Given the description of an element on the screen output the (x, y) to click on. 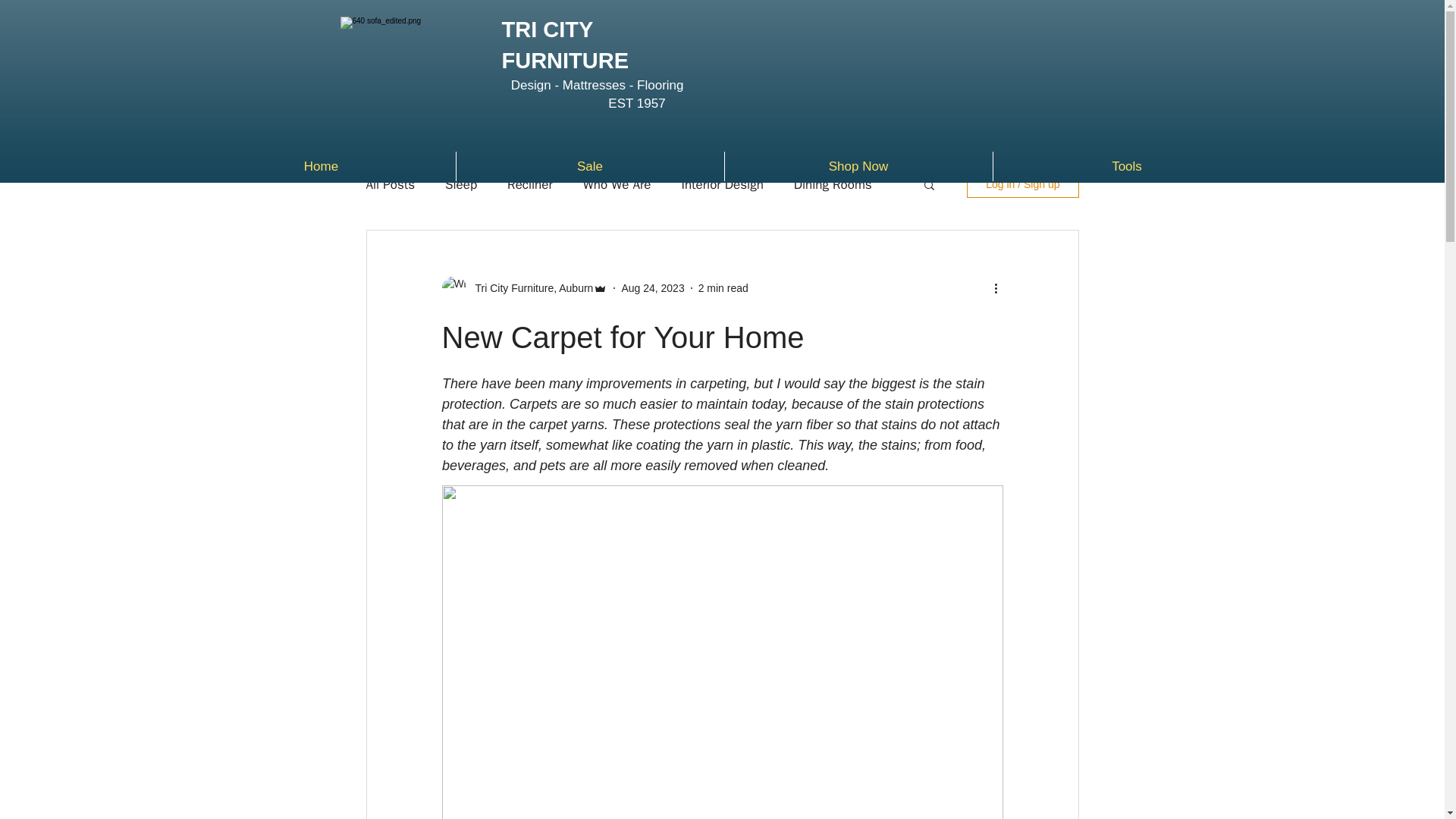
Recliner (529, 184)
Sleep (461, 184)
2 min read (723, 287)
Tools (1126, 165)
Home (320, 165)
All Posts (389, 184)
Aug 24, 2023 (652, 287)
Sale (590, 165)
Who We Are (616, 184)
Tri City Furniture, Auburn (528, 288)
